Given the description of an element on the screen output the (x, y) to click on. 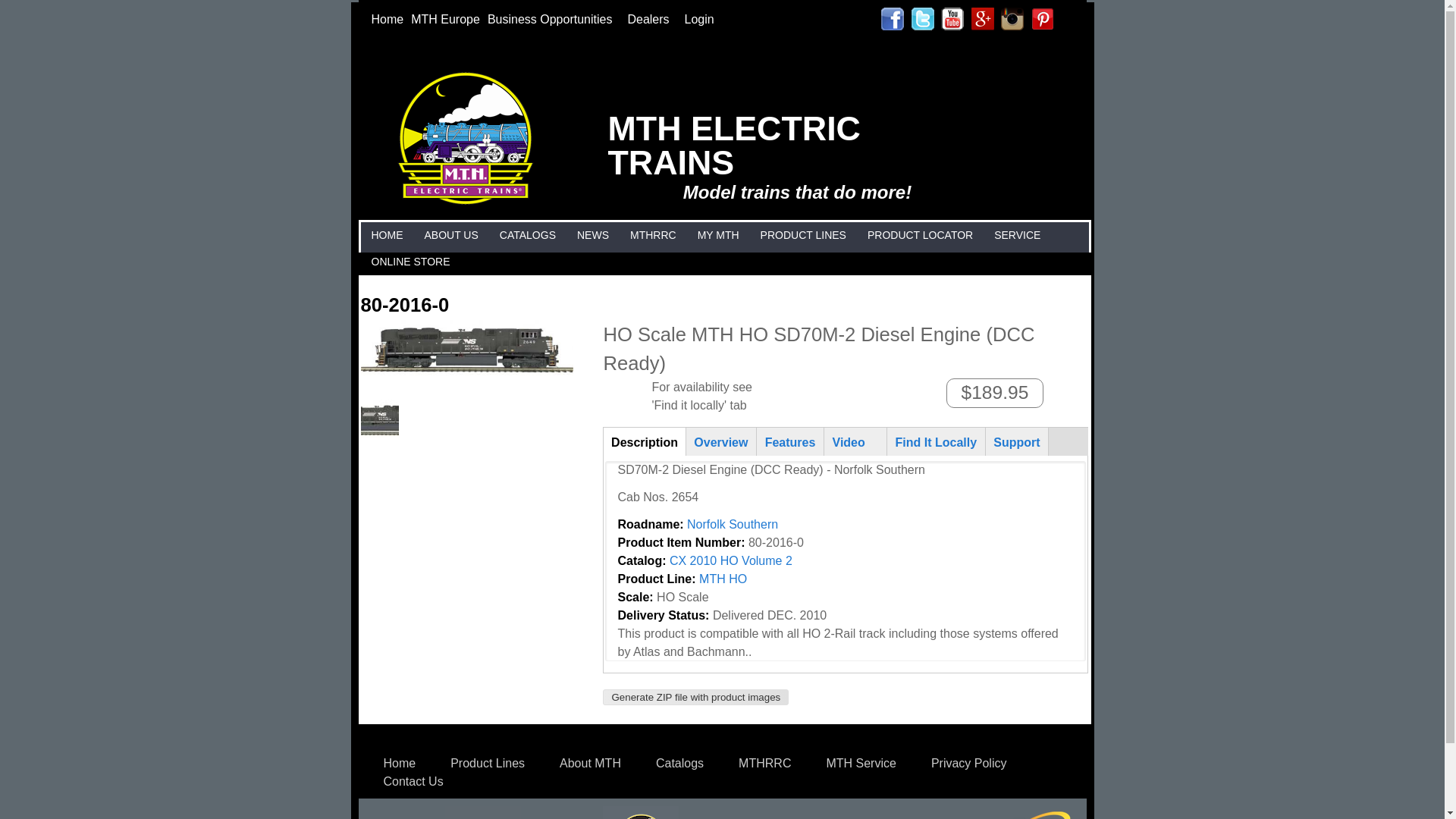
Login (699, 19)
ABOUT US (451, 234)
CATALOGS (527, 234)
MTH ELECTRIC TRAINS (465, 200)
Features (789, 441)
PRODUCT LINES (803, 234)
PRODUCT LOCATOR (919, 234)
HOME (386, 234)
Dealers (651, 19)
MTH ELECTRIC TRAINS (734, 144)
MY MTH (718, 234)
Overview (721, 441)
NEWS (593, 234)
Home (386, 19)
Generate ZIP file with product images (695, 697)
